Given the description of an element on the screen output the (x, y) to click on. 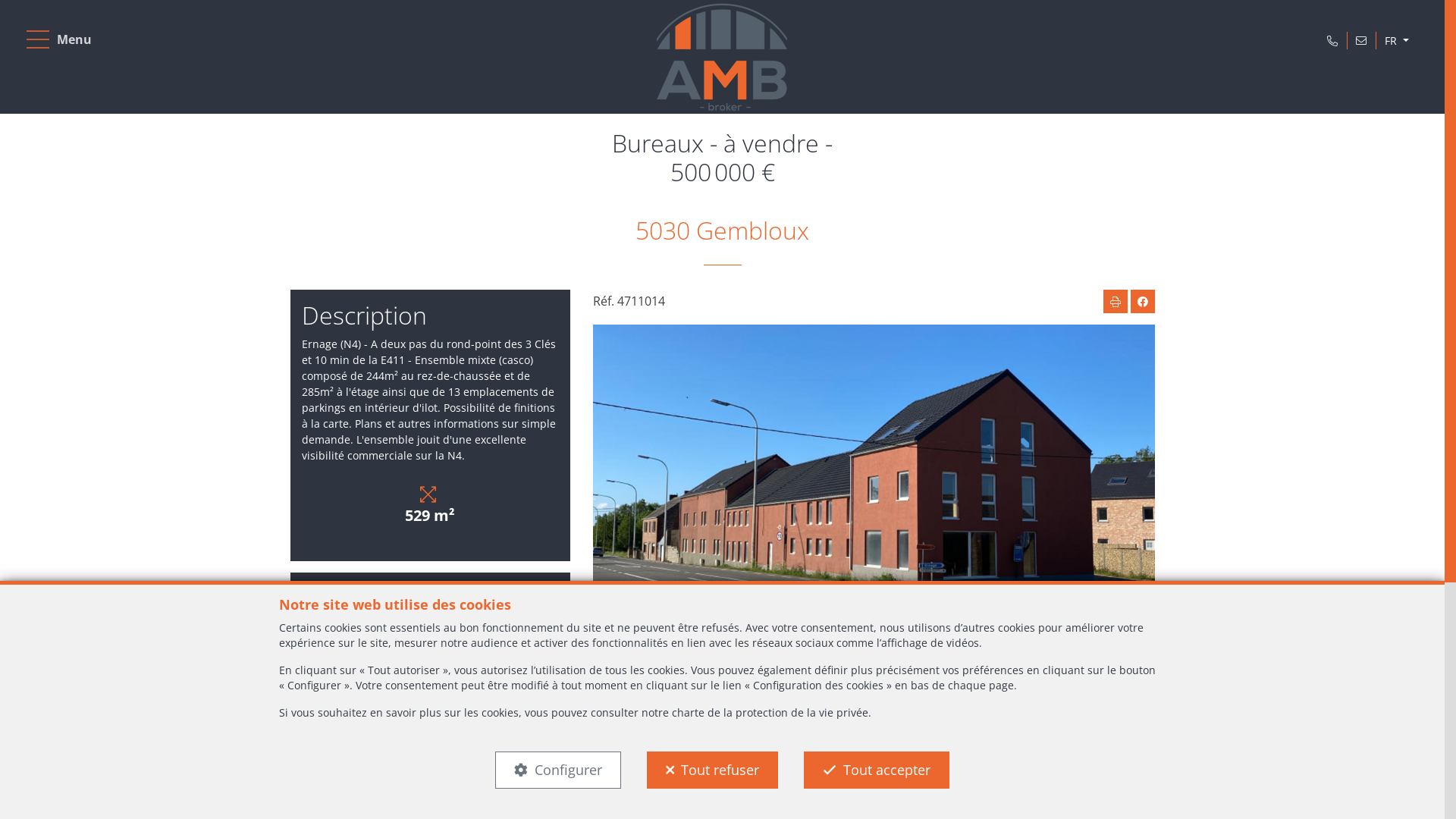
Tout refuser Element type: text (712, 769)
Configurer Element type: text (558, 769)
Plus d'informations Element type: text (488, 626)
FR Element type: text (1396, 40)
+32-2/658.24.52 Element type: text (360, 626)
Tout accepter Element type: text (876, 769)
